Given the description of an element on the screen output the (x, y) to click on. 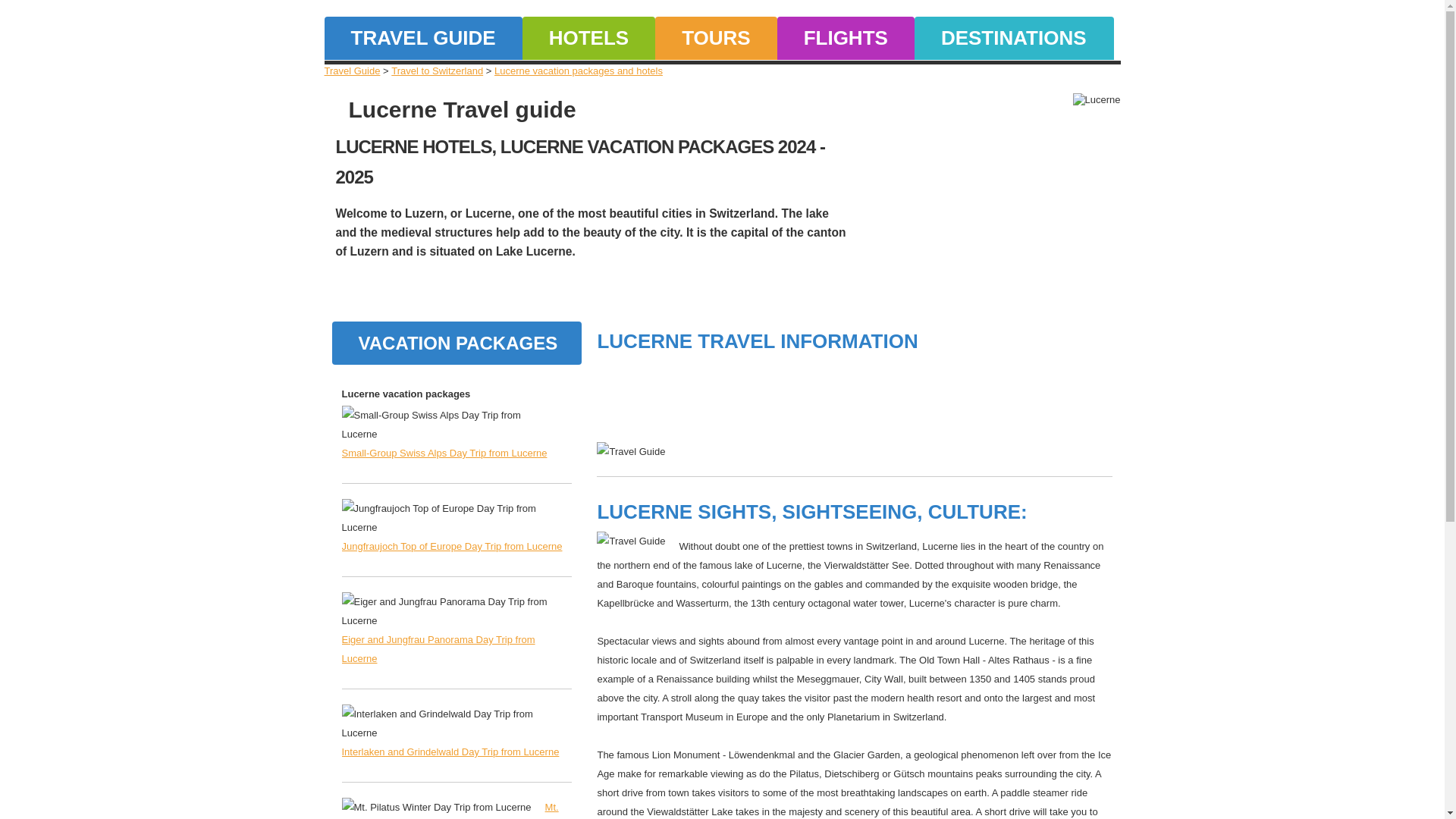
Travel Guide (352, 70)
Lucerne vacation packages and hotels (578, 70)
Eiger and Jungfrau Panorama Day Trip from Lucerne (437, 648)
DESTINATIONS (1013, 37)
Mt. Pilatus Winter Day Trip from Lucerne (448, 810)
TOURS (716, 37)
Small-Group Swiss Alps Day Trip from Lucerne (443, 452)
Interlaken and Grindelwald Day Trip from Lucerne (449, 751)
FLIGHTS (845, 37)
Travel to Switzerland (437, 70)
HOTELS (588, 37)
TRAVEL GUIDE (423, 37)
Jungfraujoch Top of Europe Day Trip from Lucerne (451, 546)
